Given the description of an element on the screen output the (x, y) to click on. 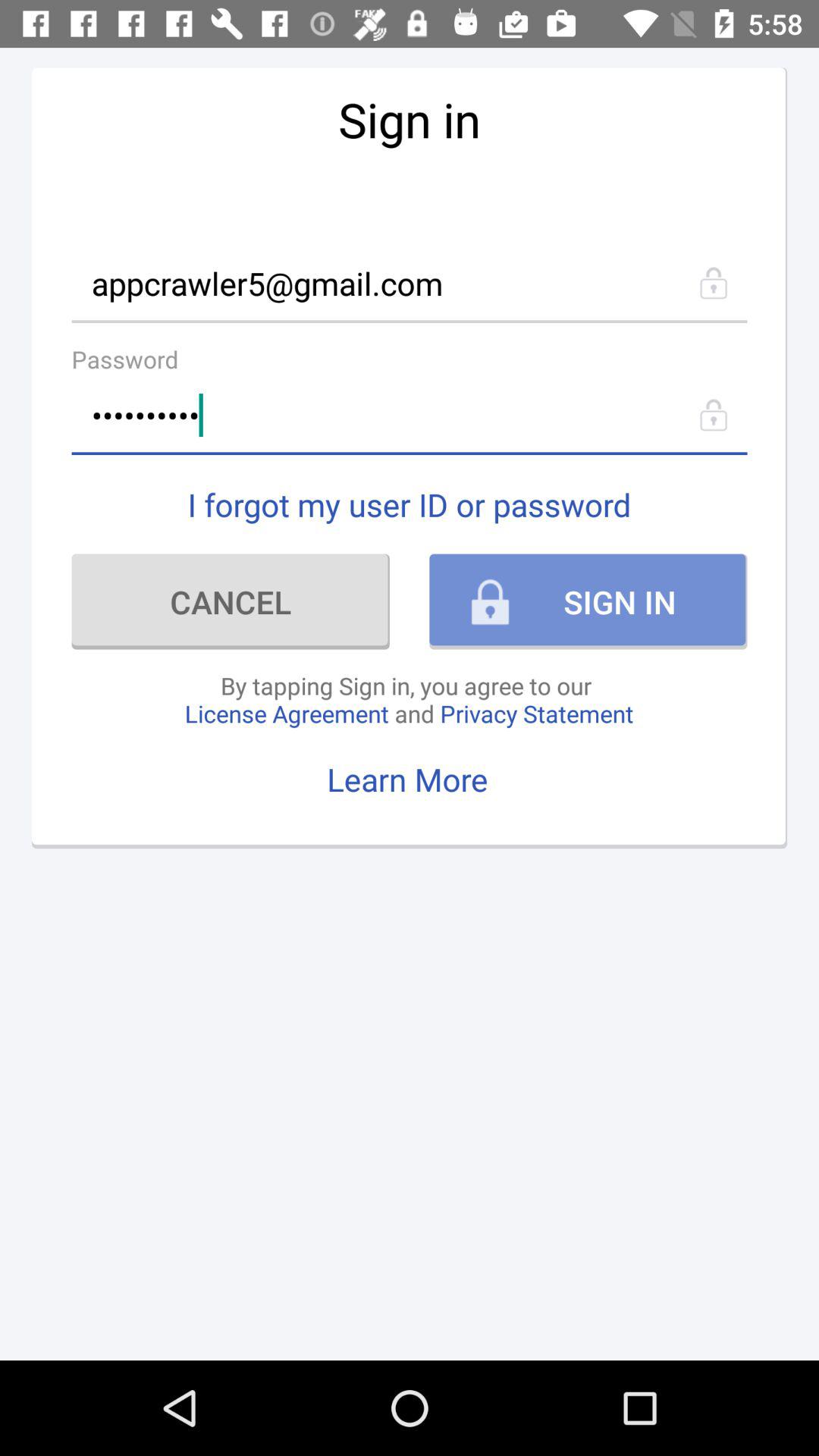
open the icon next to the sign in item (230, 601)
